Given the description of an element on the screen output the (x, y) to click on. 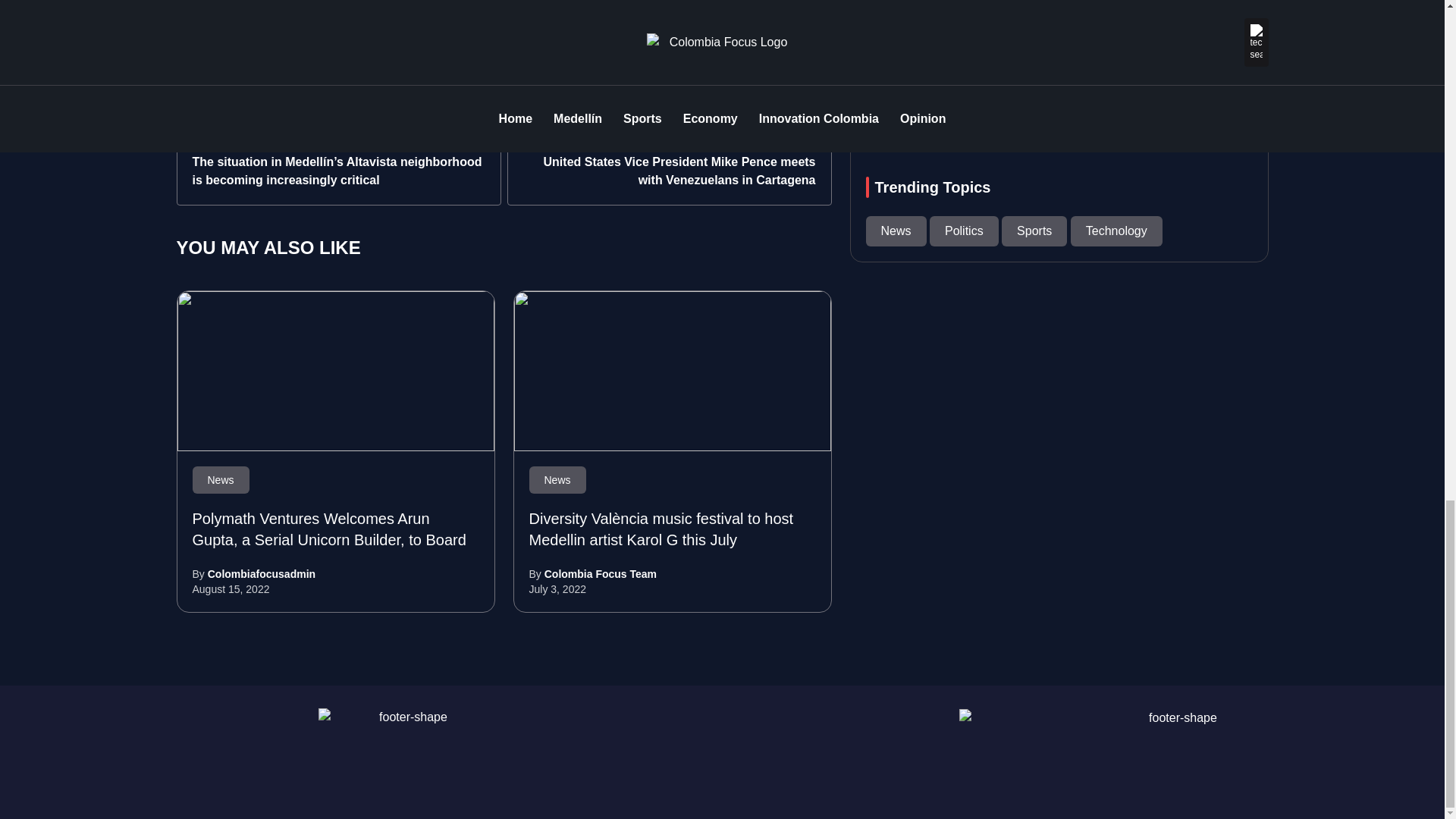
News (220, 480)
Colombiafocusadmin (261, 573)
News (557, 480)
